Given the description of an element on the screen output the (x, y) to click on. 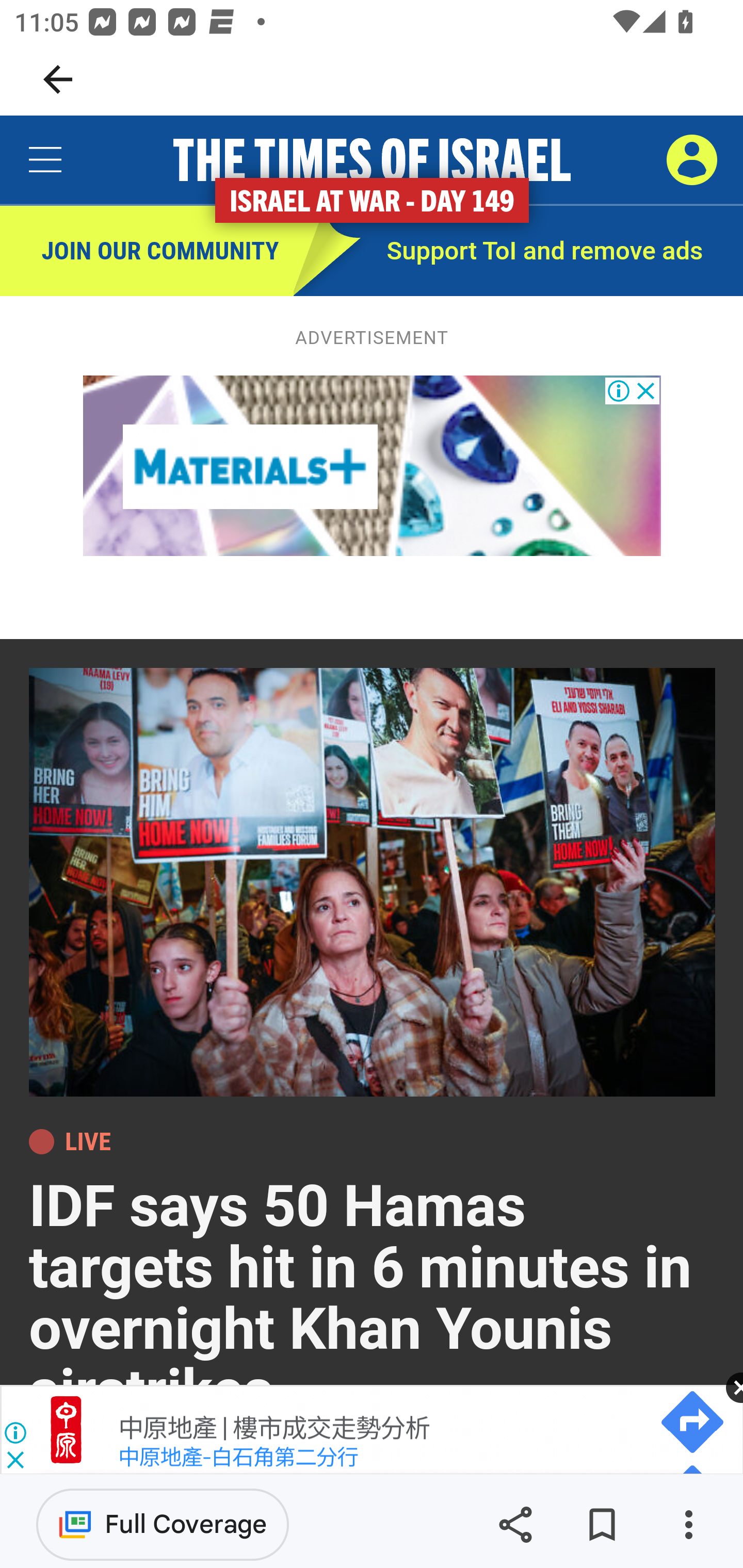
Navigate up (57, 79)
profile (691, 159)
The Times of Israel (371, 159)
JOIN OUR COMMUNITY (147, 251)
Share (514, 1524)
Save for later (601, 1524)
More options (688, 1524)
Full Coverage (162, 1524)
